Given the description of an element on the screen output the (x, y) to click on. 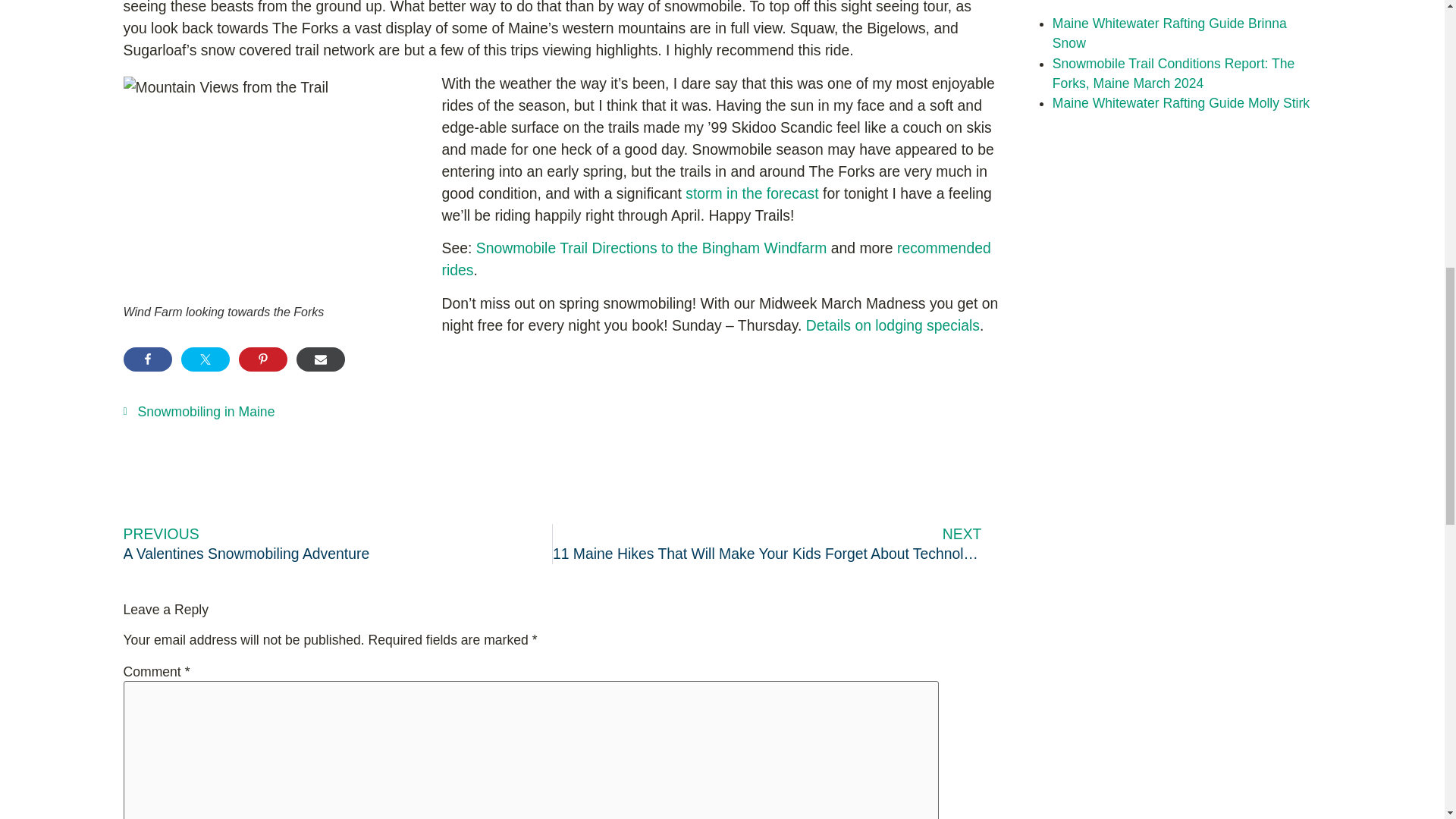
Share on Twitter (204, 359)
Share on Pinterest (262, 359)
Share on Facebook (146, 359)
Share via Email (319, 359)
